Given the description of an element on the screen output the (x, y) to click on. 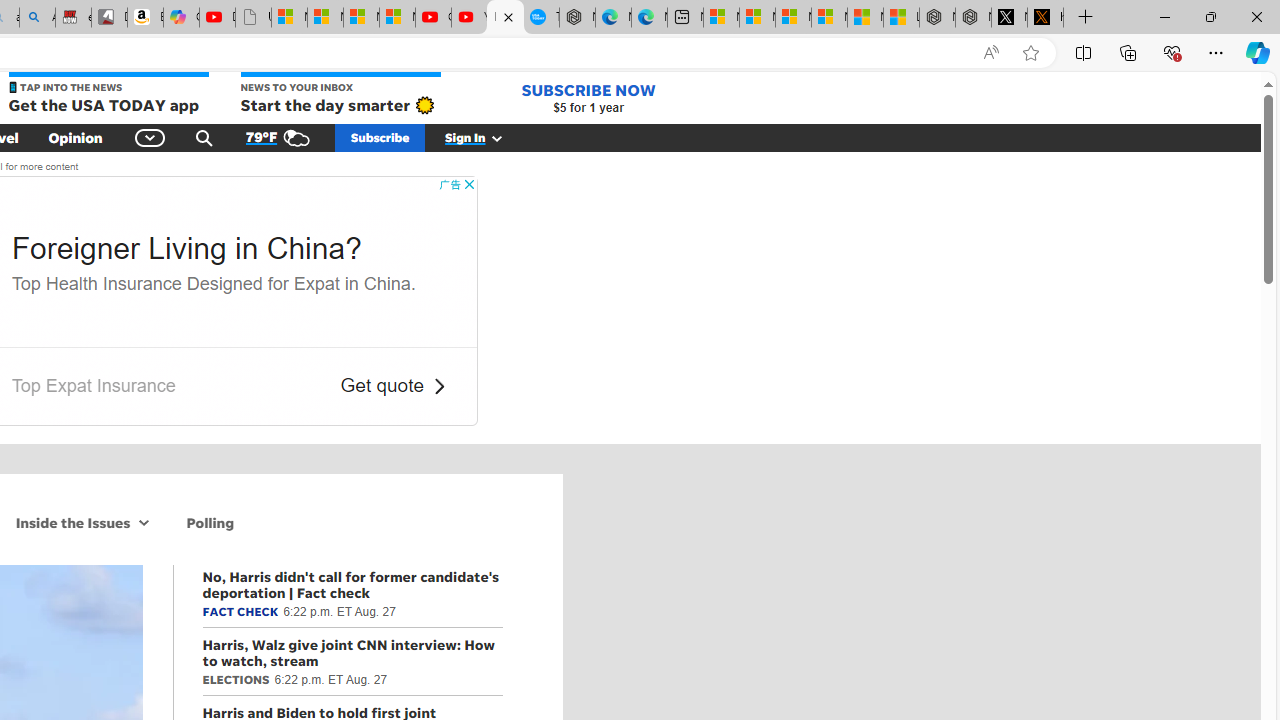
Class: gnt_n_dd_bt_svg (150, 137)
Microsoft account | Privacy (829, 17)
Copilot (180, 17)
Day 1: Arriving in Yemen (surreal to be here) - YouTube (217, 17)
Sign In (485, 137)
YouTube Kids - An App Created for Kids to Explore Content (469, 17)
More Inside the Issues navigation (143, 521)
Top Expat Insurance (93, 385)
